Given the description of an element on the screen output the (x, y) to click on. 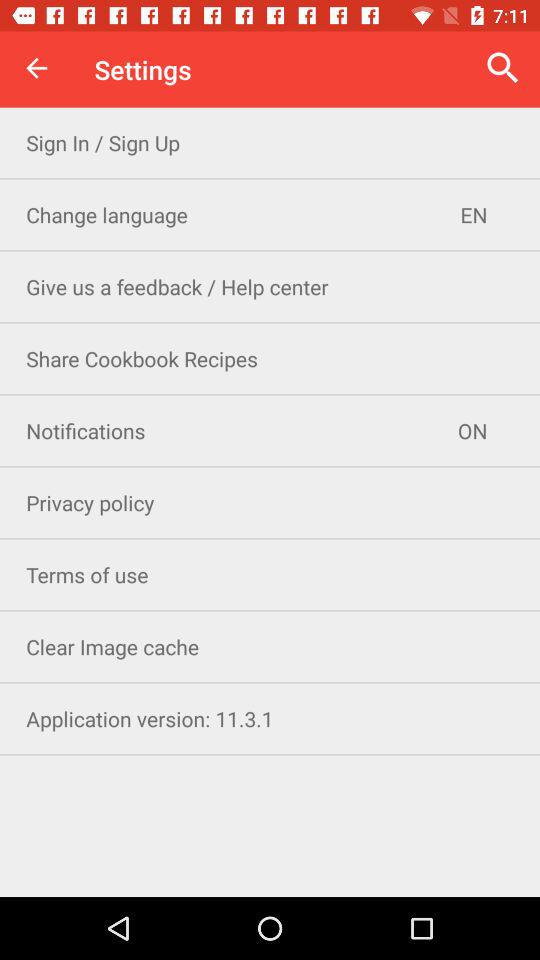
launch item to the right of the settings icon (503, 67)
